Given the description of an element on the screen output the (x, y) to click on. 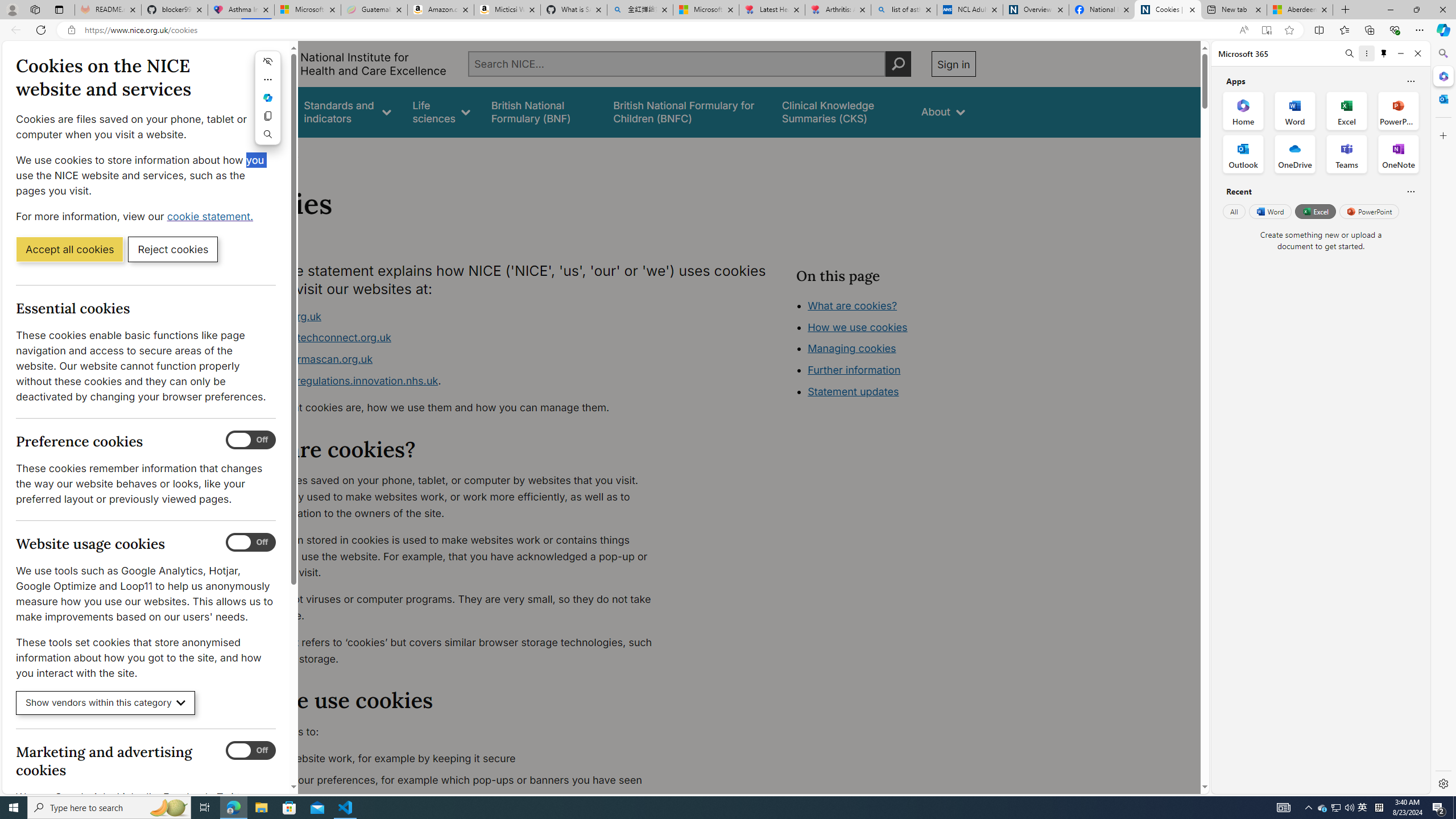
Mini menu on text selection (267, 97)
More actions (267, 79)
PowerPoint Office App (1398, 110)
Copy (267, 116)
Is this helpful? (1410, 191)
Teams Office App (1346, 154)
